Given the description of an element on the screen output the (x, y) to click on. 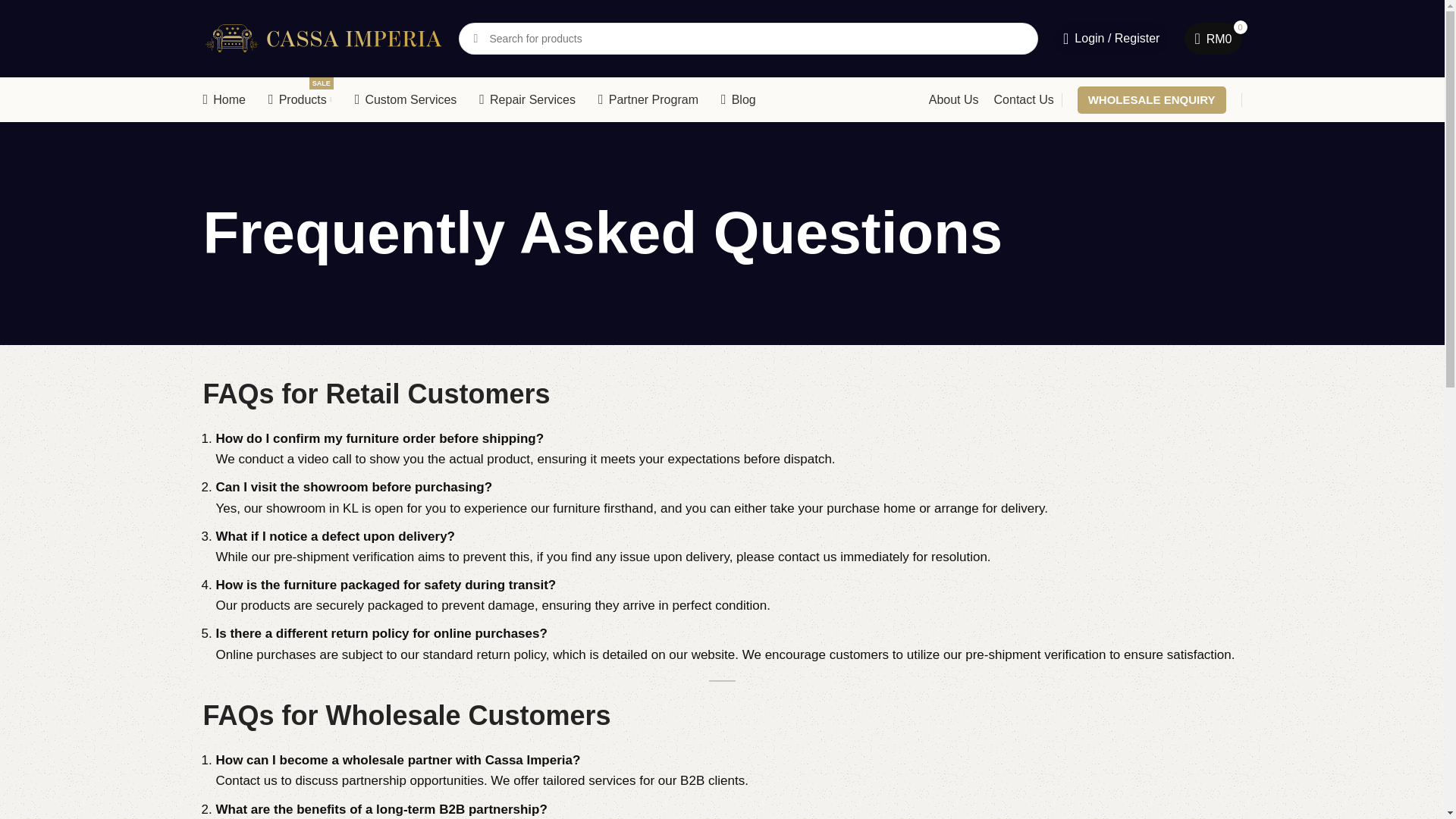
Contact Us (1024, 100)
Partner Program (648, 100)
Home (224, 100)
SEARCH (475, 38)
About Us (953, 100)
My account (1212, 38)
Search for products (1110, 38)
Custom Services (748, 38)
Shopping cart (406, 100)
